Given the description of an element on the screen output the (x, y) to click on. 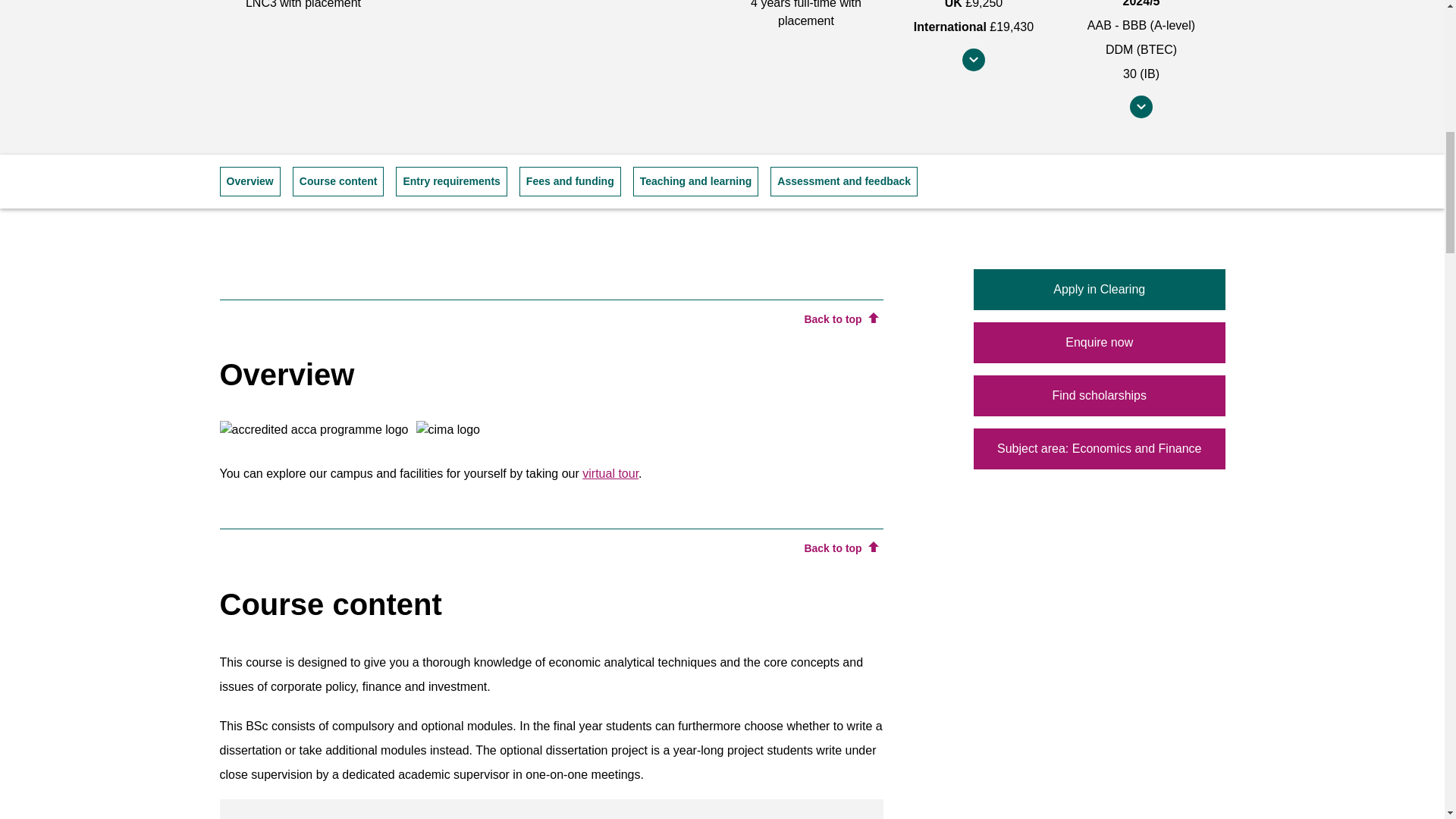
Fees and funding (570, 181)
Year 1 (551, 809)
Teaching and learning (695, 181)
Back to top (840, 319)
Back to top (840, 548)
Back to top (840, 548)
Assessment and feedback (843, 181)
Back to top (840, 319)
Course content (338, 181)
Overview (250, 181)
